Given the description of an element on the screen output the (x, y) to click on. 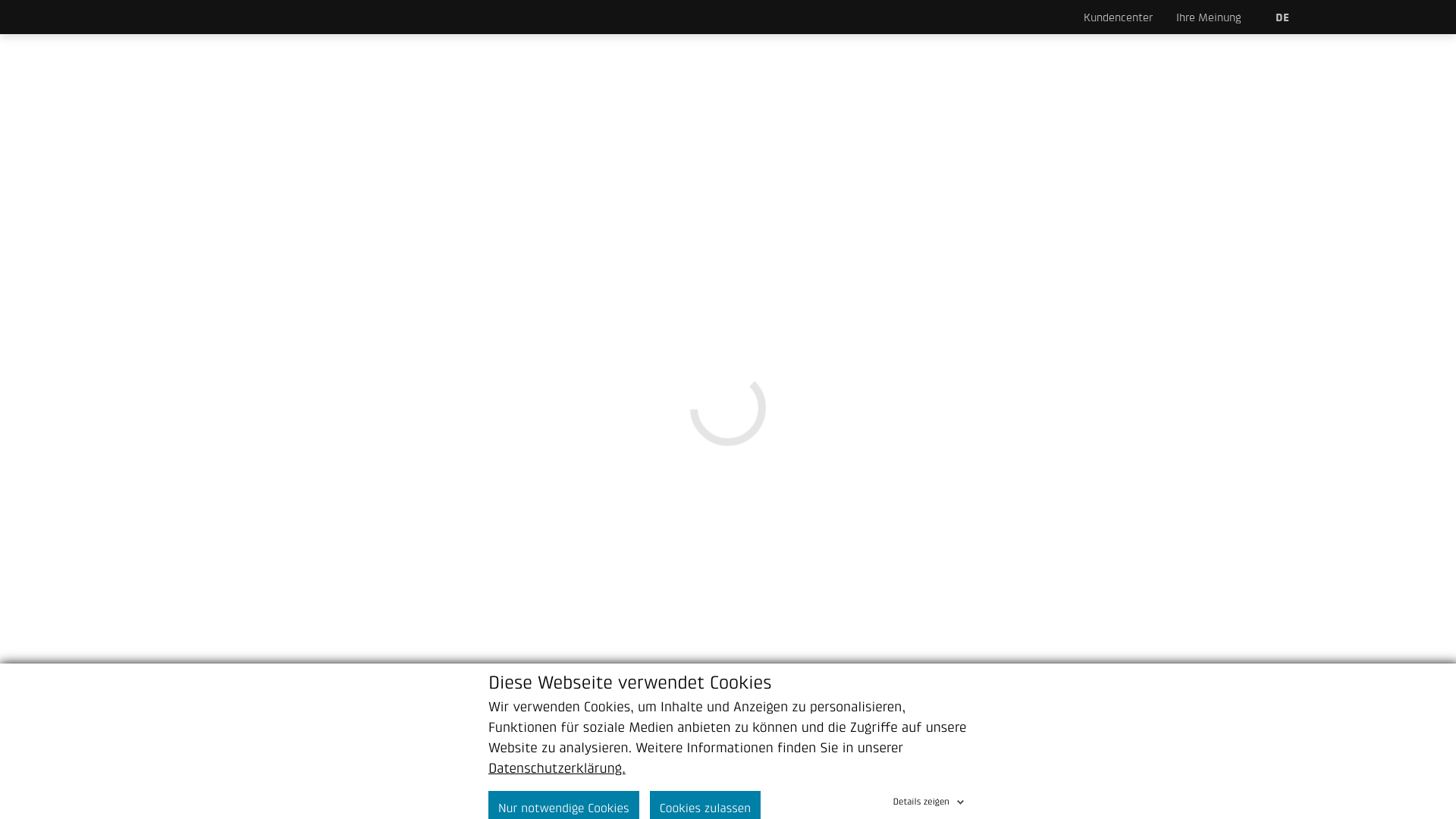
Details zeigen Element type: text (932, 778)
Cookies zulassen Element type: text (691, 787)
Nur notwendige Cookies Element type: text (558, 787)
